Given the description of an element on the screen output the (x, y) to click on. 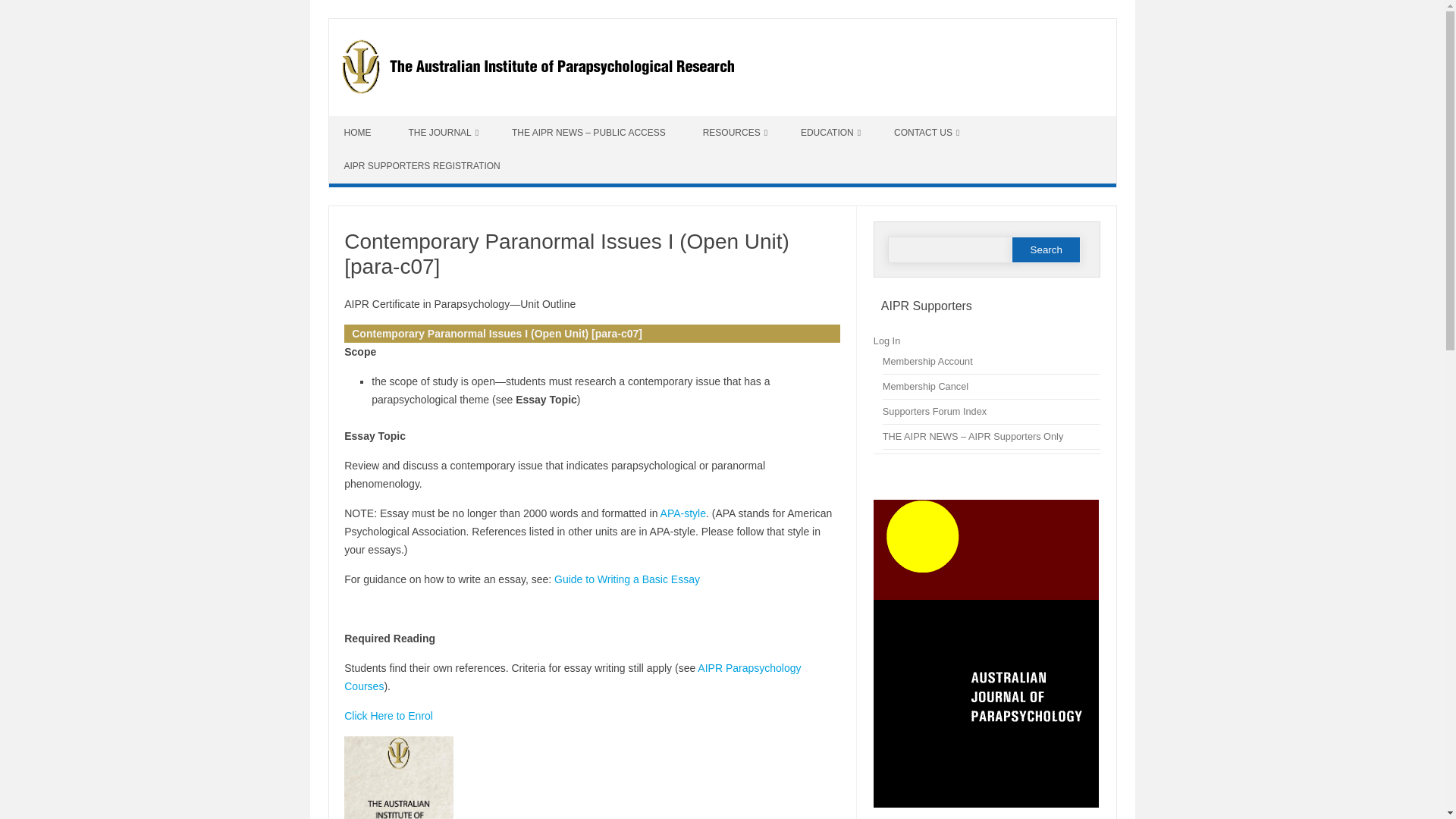
Skip to content (363, 121)
RESOURCES (735, 132)
Search (1045, 249)
THE JOURNAL (443, 132)
HOME (359, 132)
Skip to content (363, 121)
The Australian Institute of Parapsychological Research (544, 90)
